Given the description of an element on the screen output the (x, y) to click on. 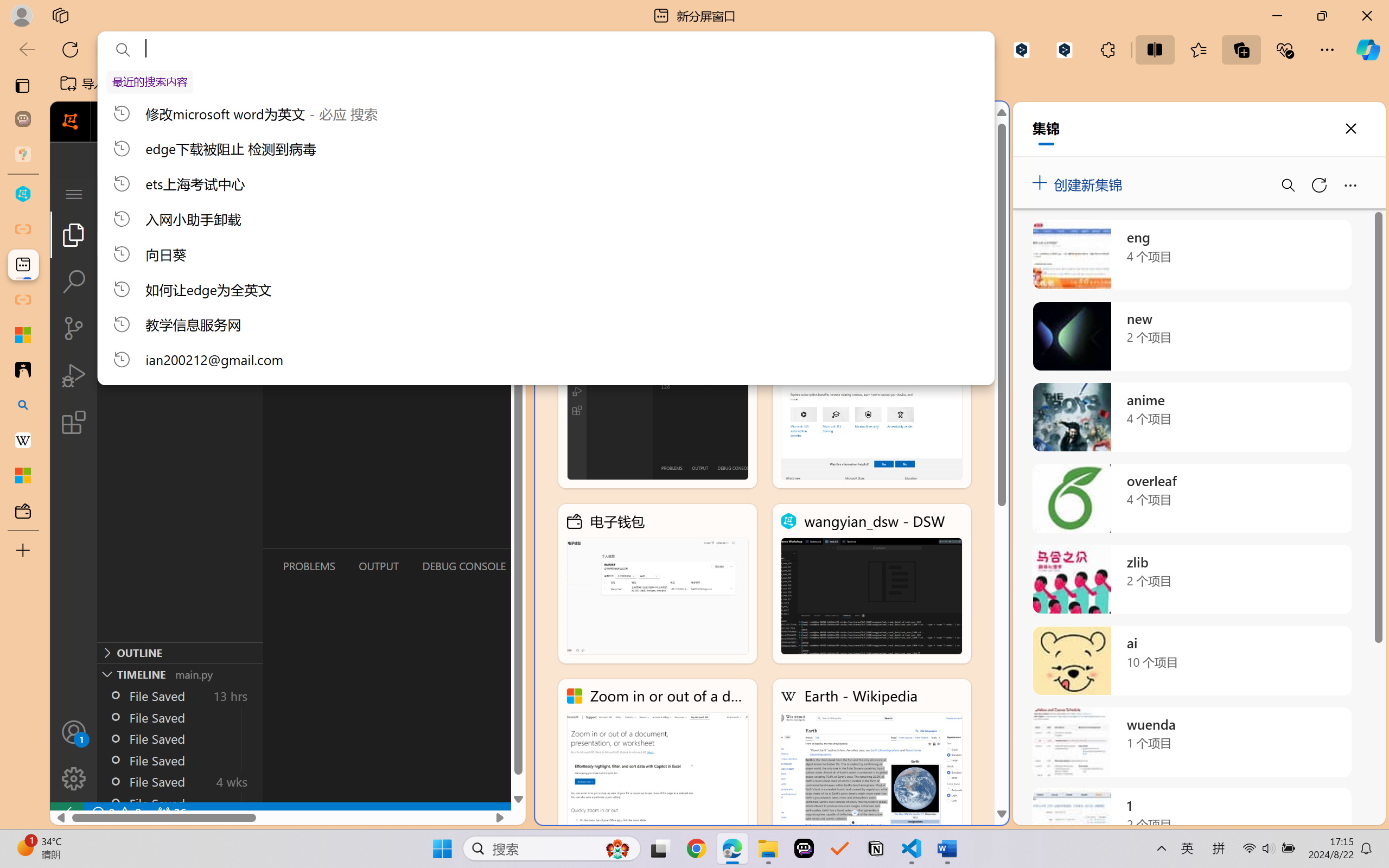
wangyian_dsw - DSW (871, 583)
Outline Section (179, 652)
Manage (73, 755)
Gmail (345, 83)
Extensions (Ctrl+Shift+X) (73, 422)
wangyian_dsw - DSW (22, 194)
Accounts - Sign in requested (73, 732)
